Given the description of an element on the screen output the (x, y) to click on. 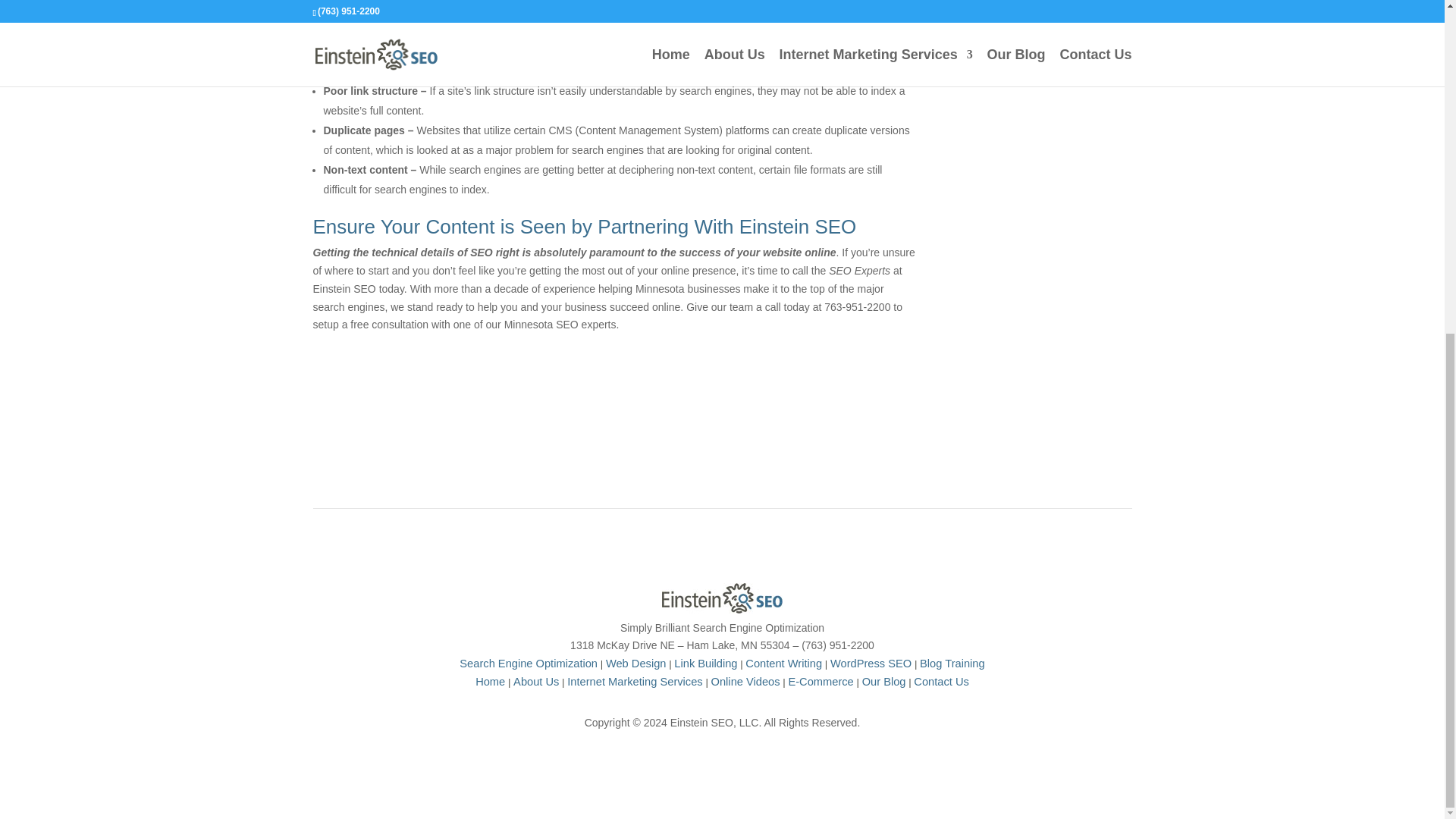
Content Writing (783, 663)
WordPress SEO (870, 663)
Link Building (705, 663)
Web Design (635, 663)
Online Videos (745, 681)
Search Engine Optimization (528, 663)
Our Blog (883, 681)
Request Review (1045, 20)
Internet Marketing Services (634, 681)
E-Commerce (820, 681)
